Given the description of an element on the screen output the (x, y) to click on. 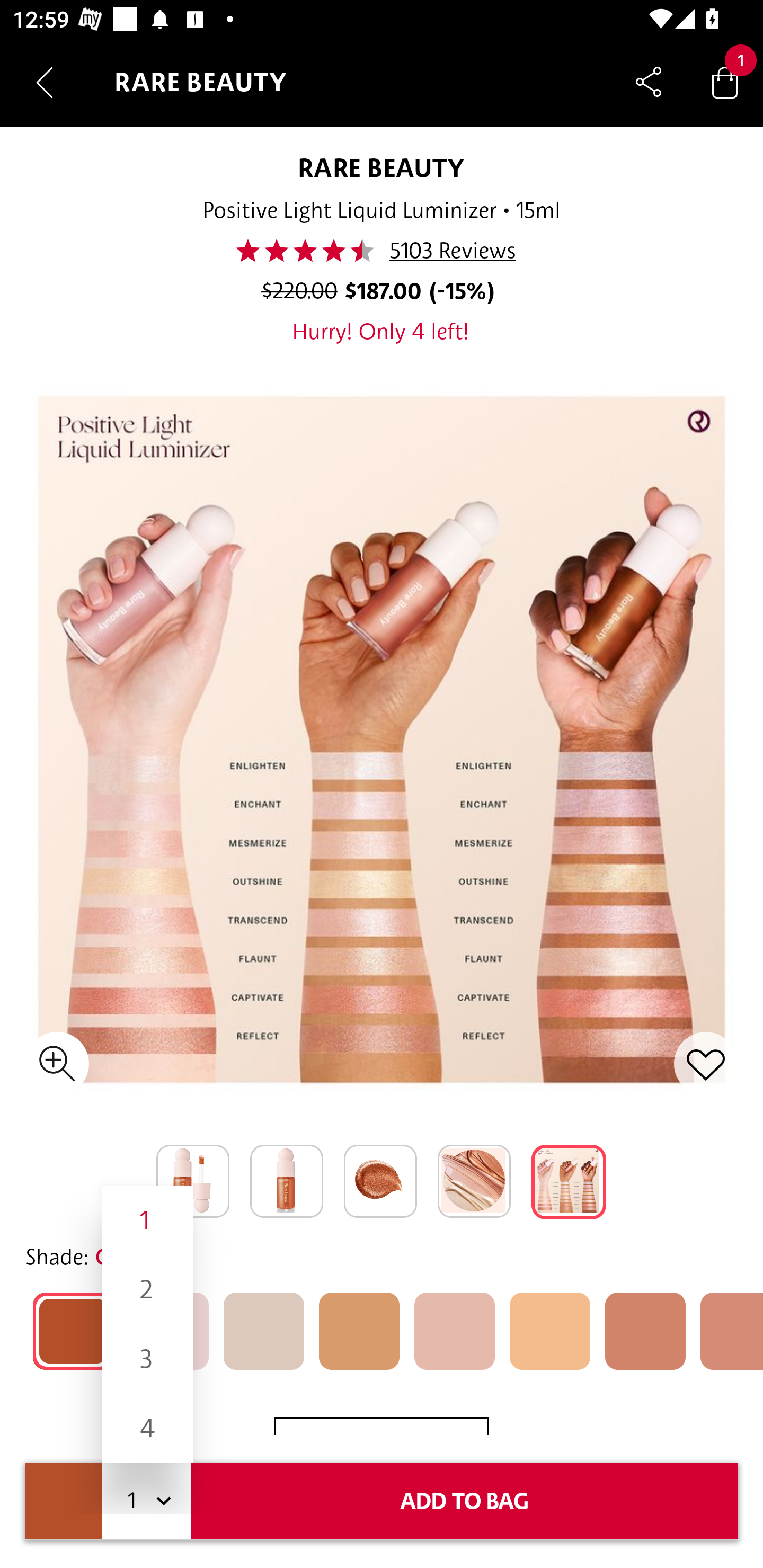
1 (147, 1219)
2 (147, 1289)
3 (147, 1358)
4 (147, 1427)
